Given the description of an element on the screen output the (x, y) to click on. 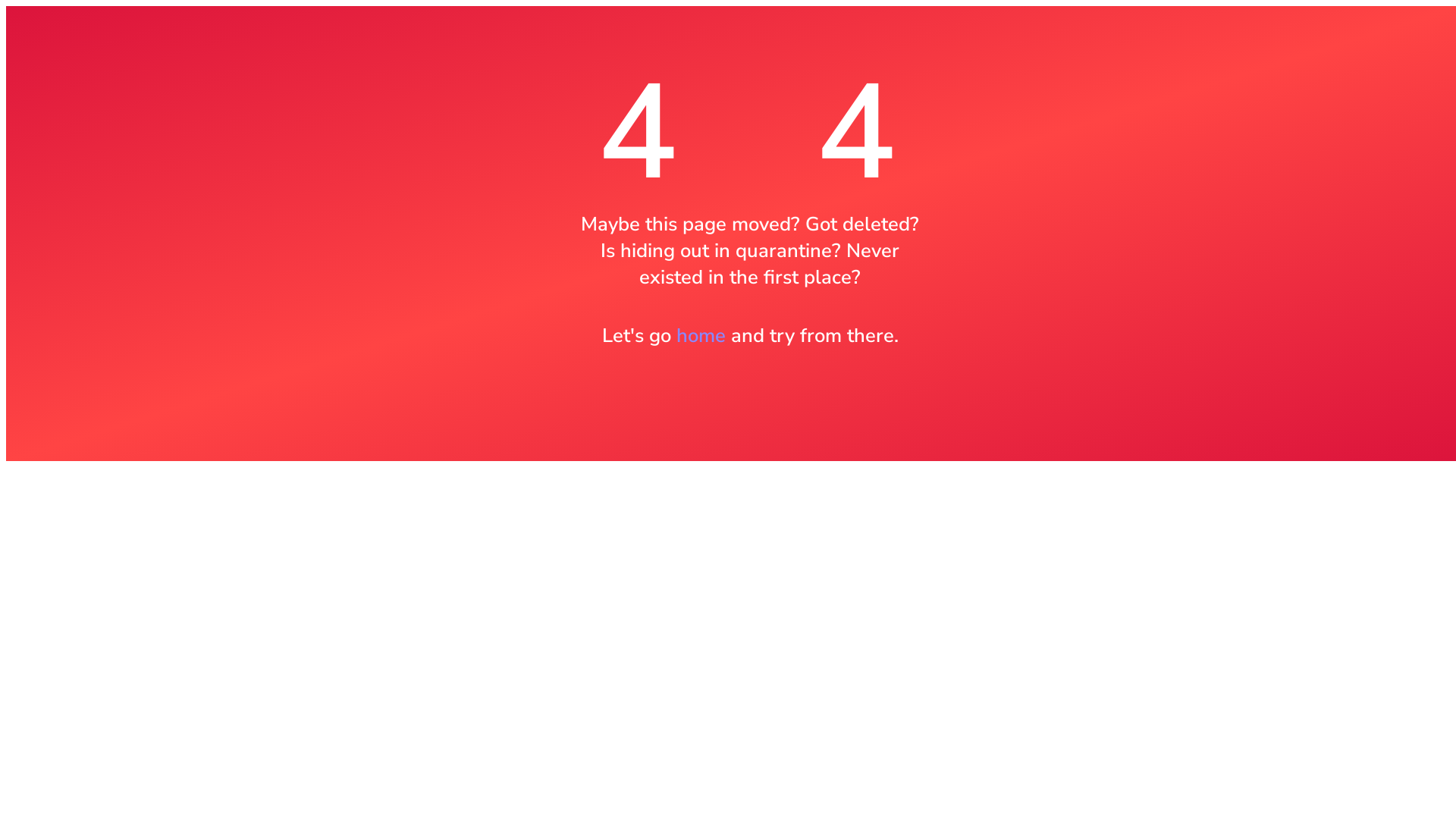
home Element type: text (700, 335)
